Given the description of an element on the screen output the (x, y) to click on. 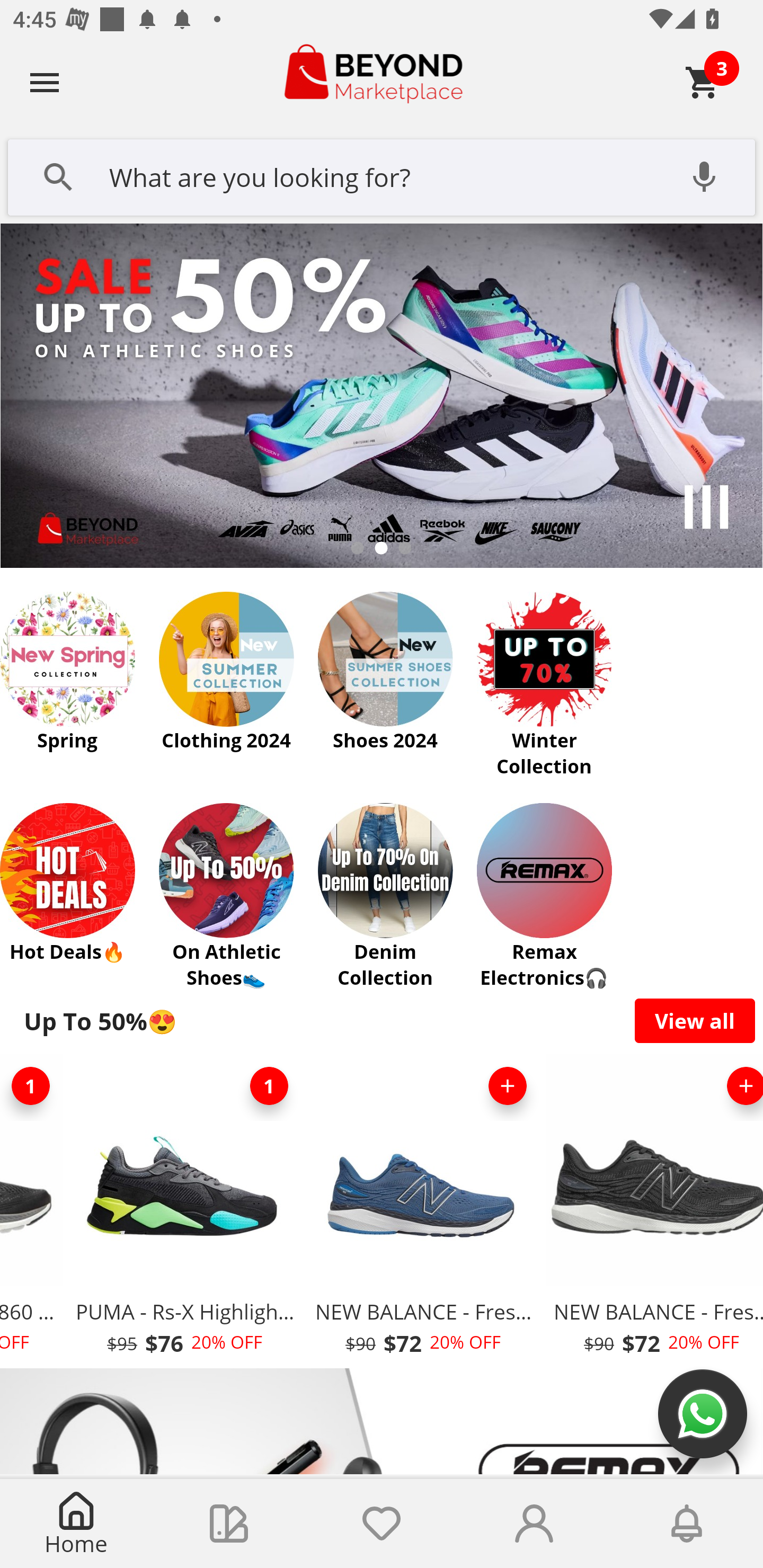
Navigate up (44, 82)
What are you looking for? (381, 175)
View all (694, 1020)
1 (32, 1085)
1 (269, 1085)
Collections (228, 1523)
Wishlist (381, 1523)
Account (533, 1523)
Notifications (686, 1523)
